Given the description of an element on the screen output the (x, y) to click on. 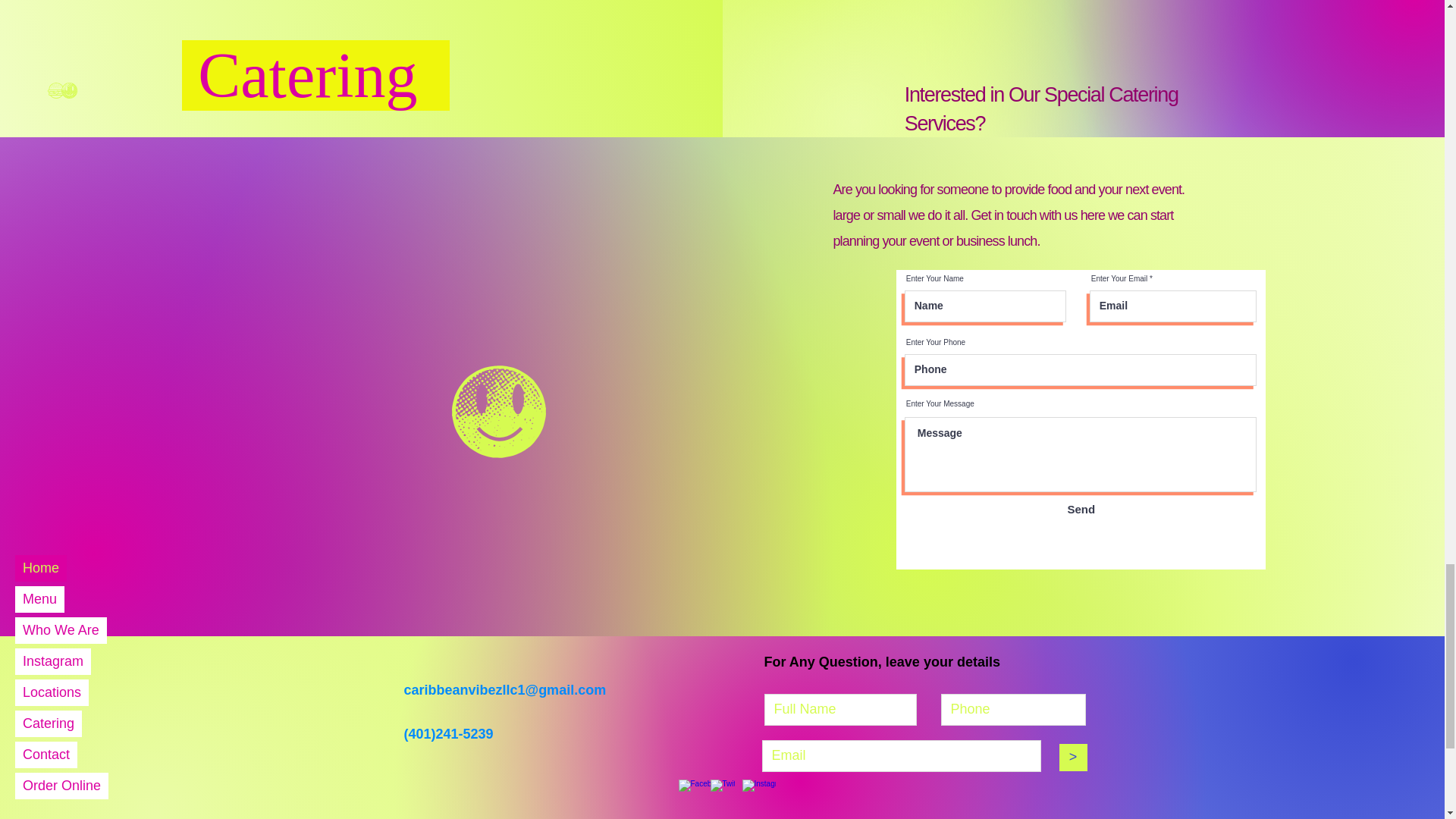
Send (1081, 508)
